Given the description of an element on the screen output the (x, y) to click on. 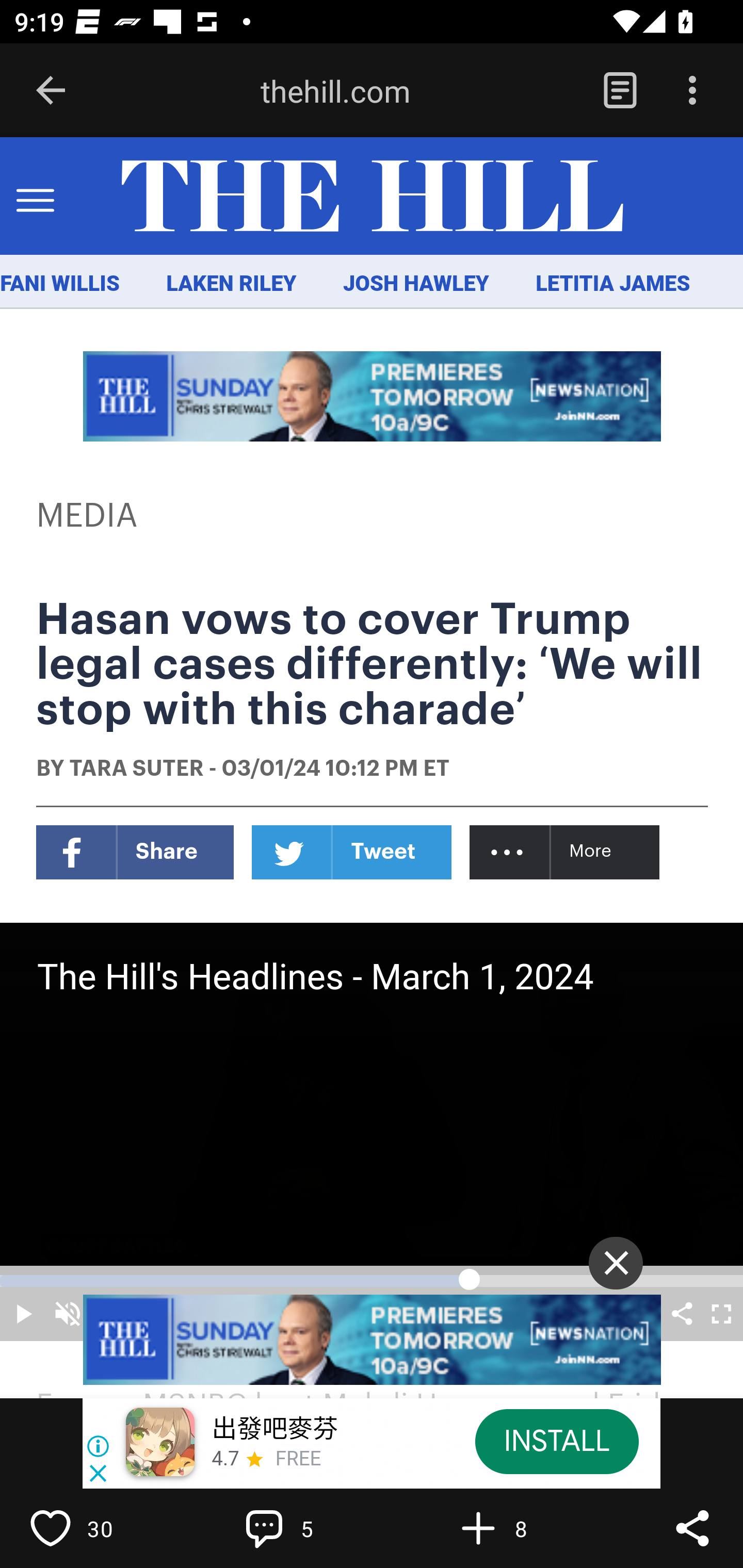
Back (50, 90)
Reader View (619, 90)
Options (692, 90)
Toggle Menu (34, 196)
TheHill.com (371, 196)
FANI WILLIS (60, 284)
LAKEN RILEY (231, 284)
JOSH HAWLEY (414, 284)
LETITIA JAMES (612, 284)
channel-finder (372, 395)
MEDIA (87, 516)
TARA SUTER (135, 769)
Facebook Share Facebook Share (135, 852)
Twitter Tweet Twitter Tweet (352, 852)
... More (565, 852)
✕ (616, 1262)
Play (23, 1312)
Unmute (67, 1312)
 Share (682, 1312)
Fullscreen (719, 1312)
channel-finder (372, 1339)
INSTALL (556, 1441)
出發吧麥芬 (274, 1429)
Like 30 (93, 1528)
Write a comment… 5 (307, 1528)
Flip into Magazine 8 (521, 1528)
Share (692, 1528)
